Given the description of an element on the screen output the (x, y) to click on. 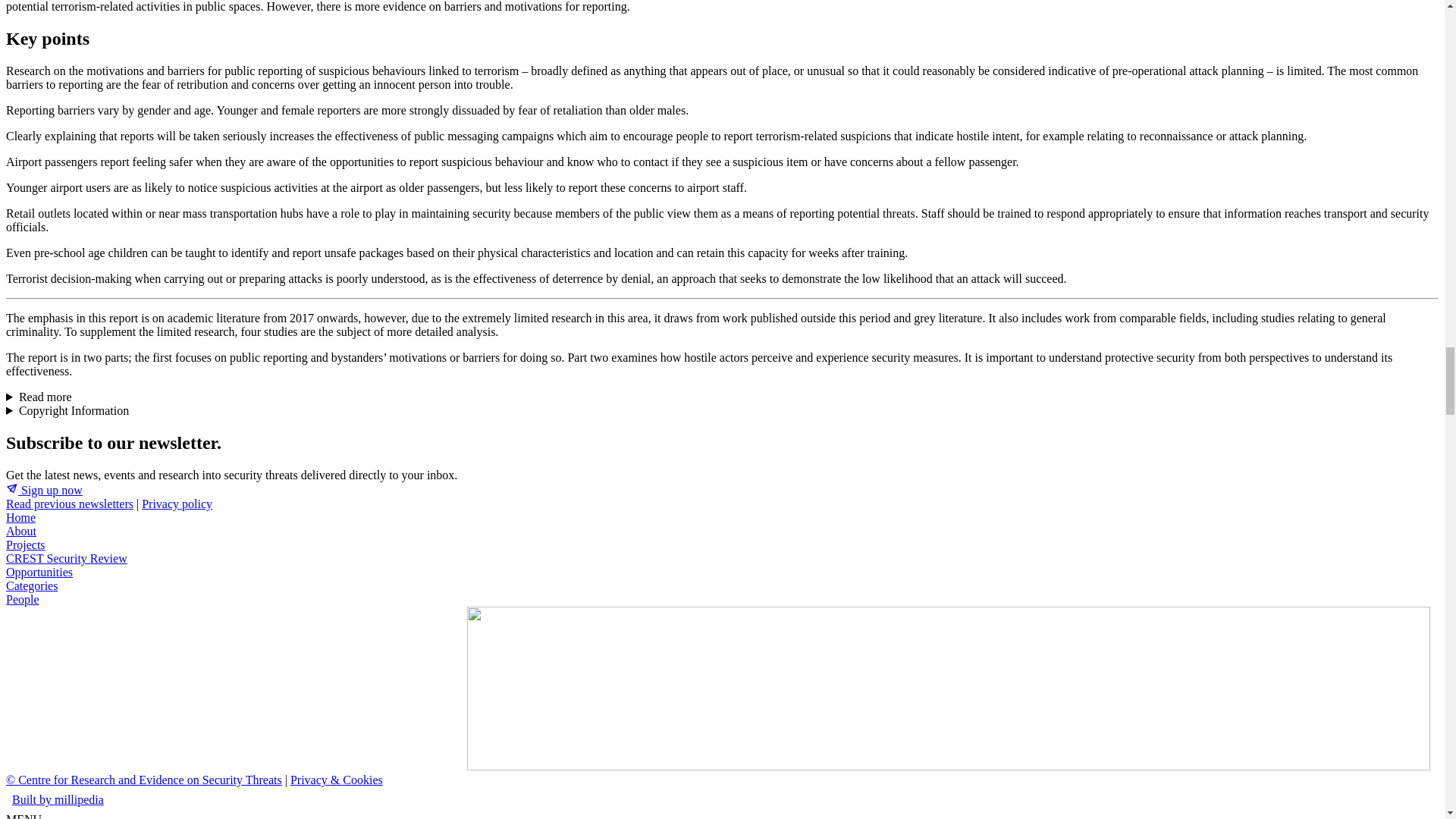
About (20, 530)
Sign up now (43, 490)
People (22, 599)
Privacy policy (176, 503)
Home (19, 517)
Opportunities (38, 571)
Read previous newsletters (69, 503)
Built by millipedia (57, 799)
CREST Security Review (66, 558)
Projects (25, 544)
